Given the description of an element on the screen output the (x, y) to click on. 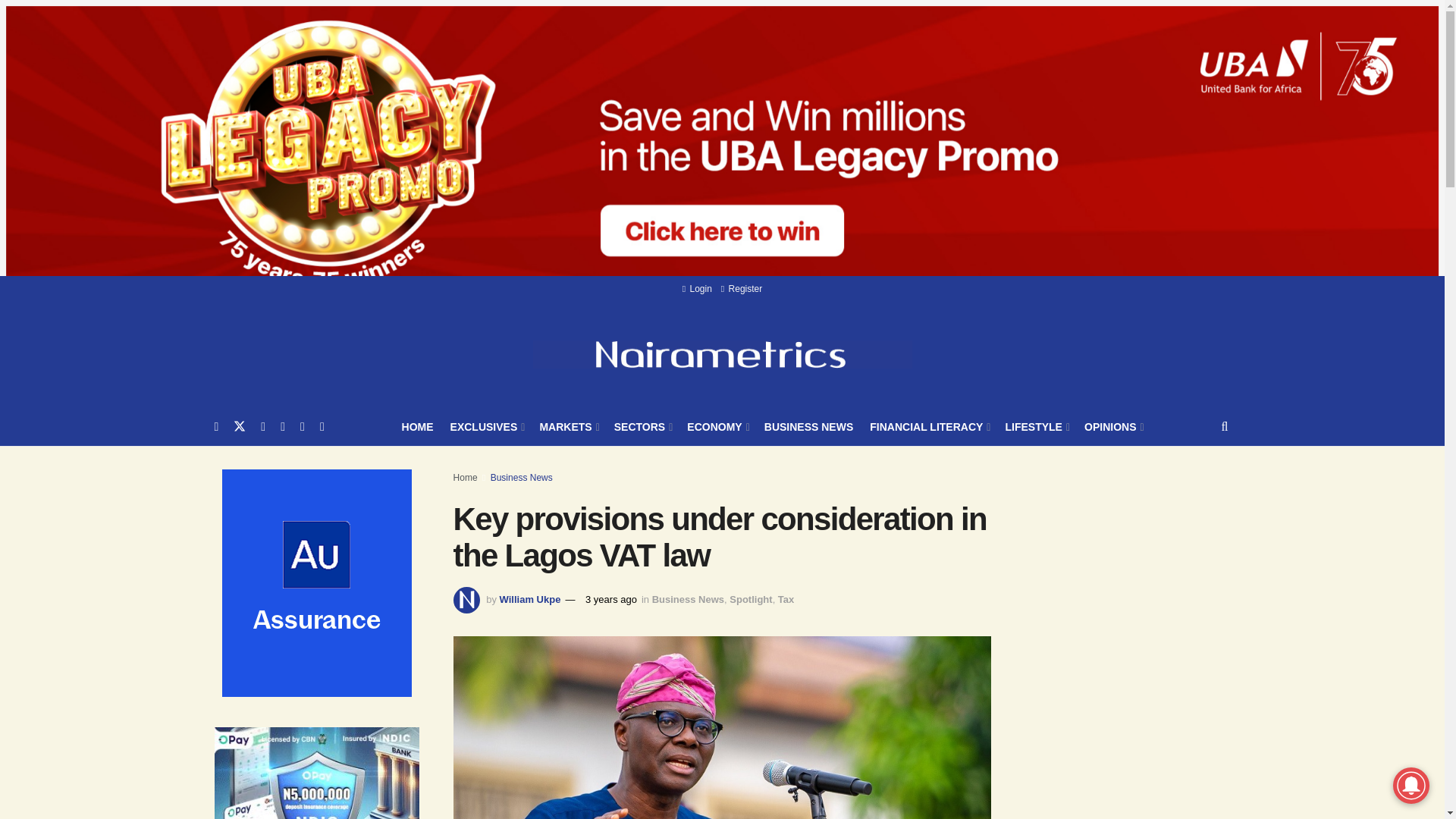
Register (740, 289)
SECTORS (642, 426)
MARKETS (567, 426)
Login (696, 289)
Advertisement (1138, 785)
EXCLUSIVES (485, 426)
HOME (417, 426)
